Given the description of an element on the screen output the (x, y) to click on. 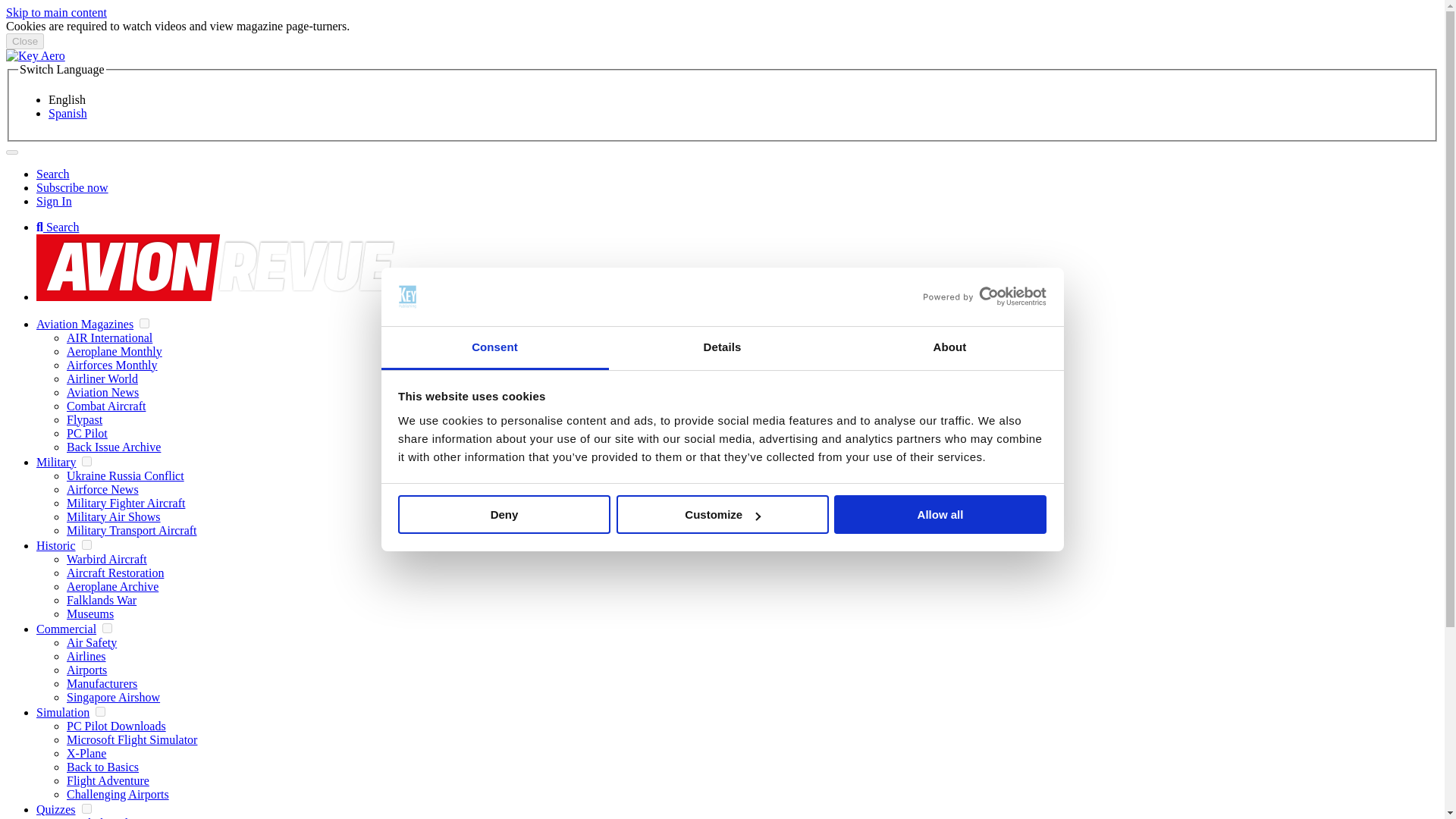
on (144, 323)
Details (721, 348)
About (948, 348)
on (86, 461)
Consent (494, 348)
on (100, 711)
on (86, 808)
on (86, 544)
on (106, 628)
